Given the description of an element on the screen output the (x, y) to click on. 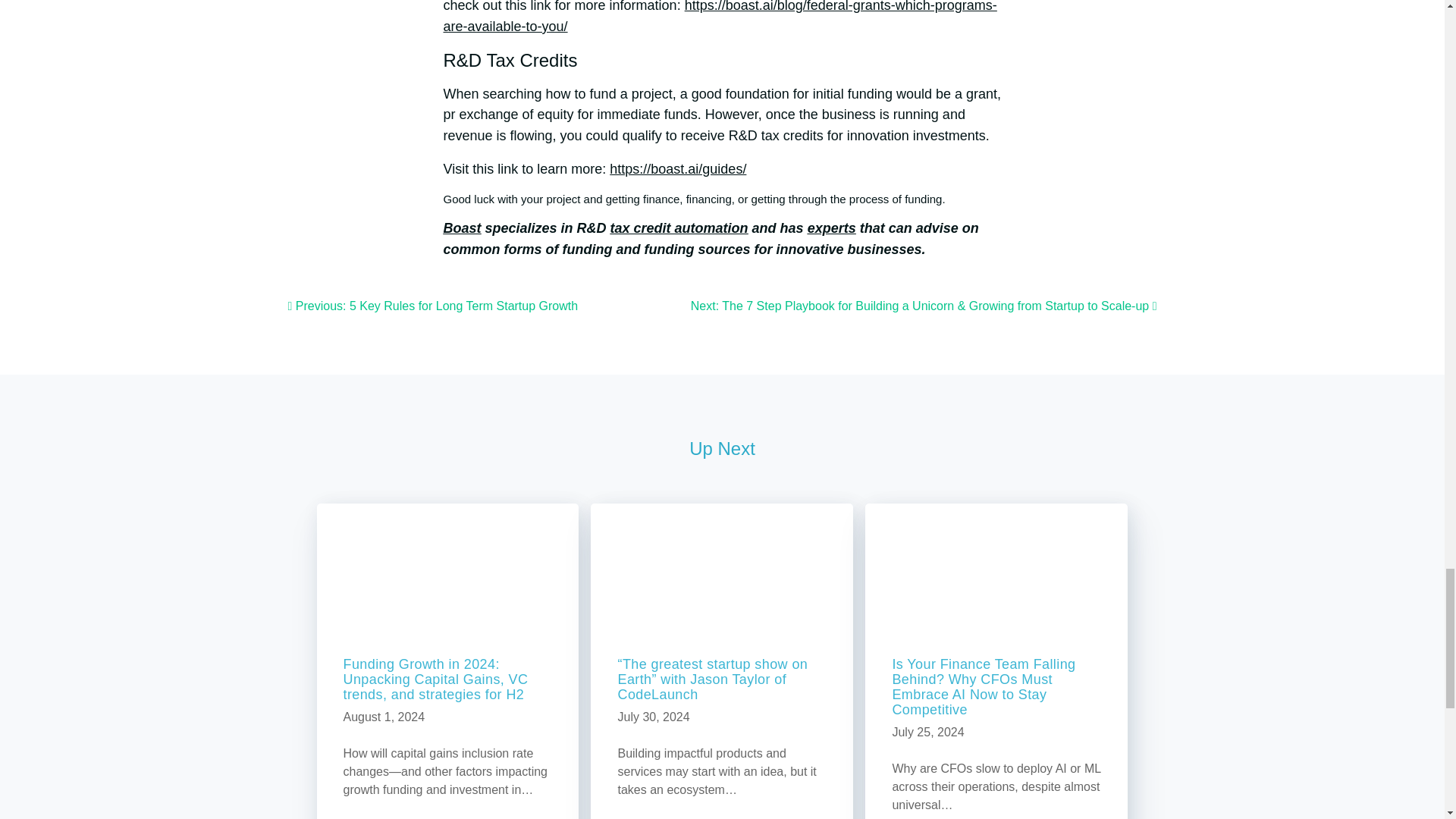
Boast (461, 227)
tax credit automation (679, 227)
